Given the description of an element on the screen output the (x, y) to click on. 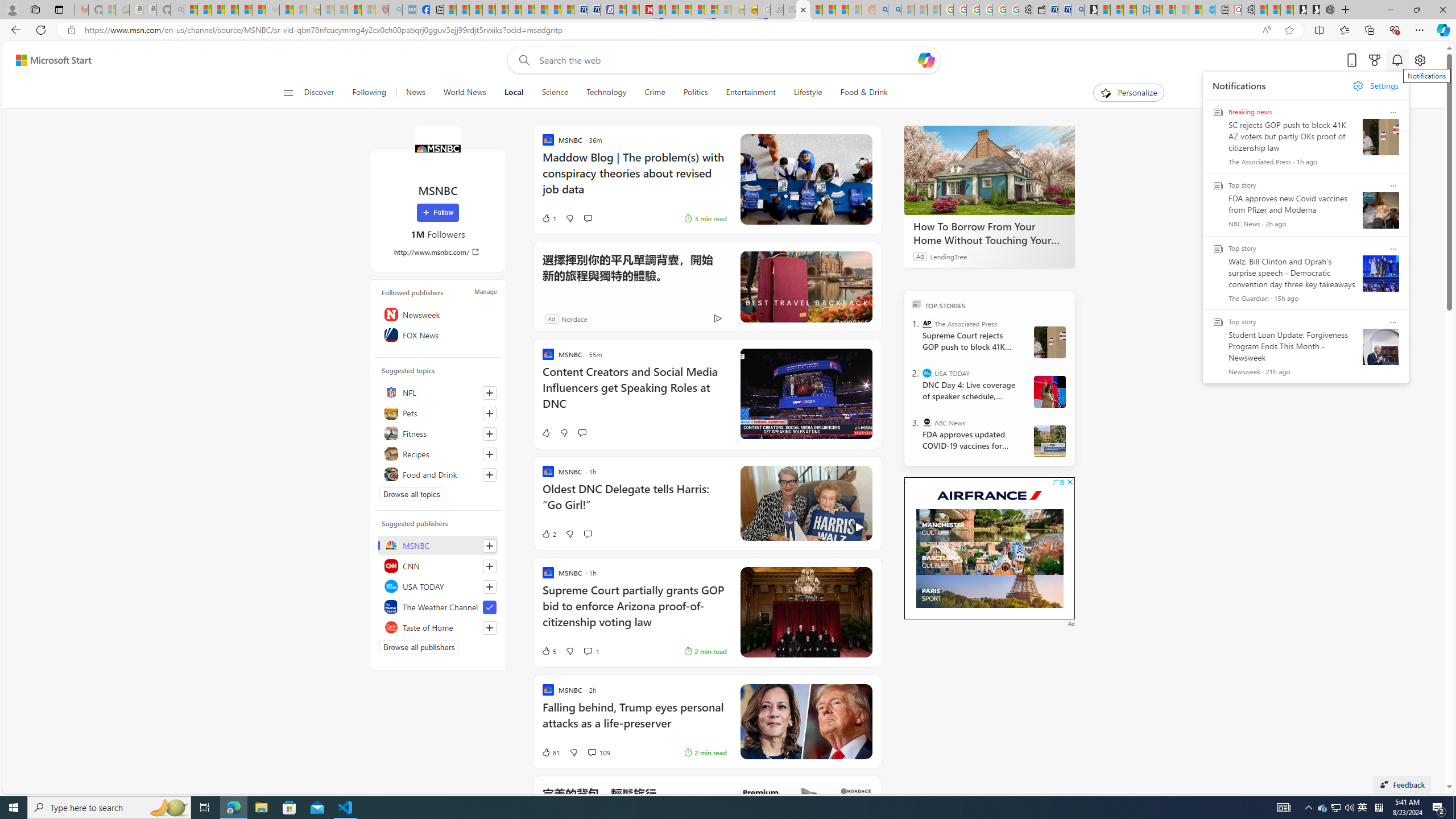
Local (513, 92)
Science (554, 92)
Latest Politics News & Archive | Newsweek.com (646, 9)
Personalize (1128, 92)
Food & Drink (864, 92)
World - MSN (475, 9)
USA TODAY (437, 586)
1 Like (547, 218)
Science (554, 92)
Ad Choice (717, 318)
